Given the description of an element on the screen output the (x, y) to click on. 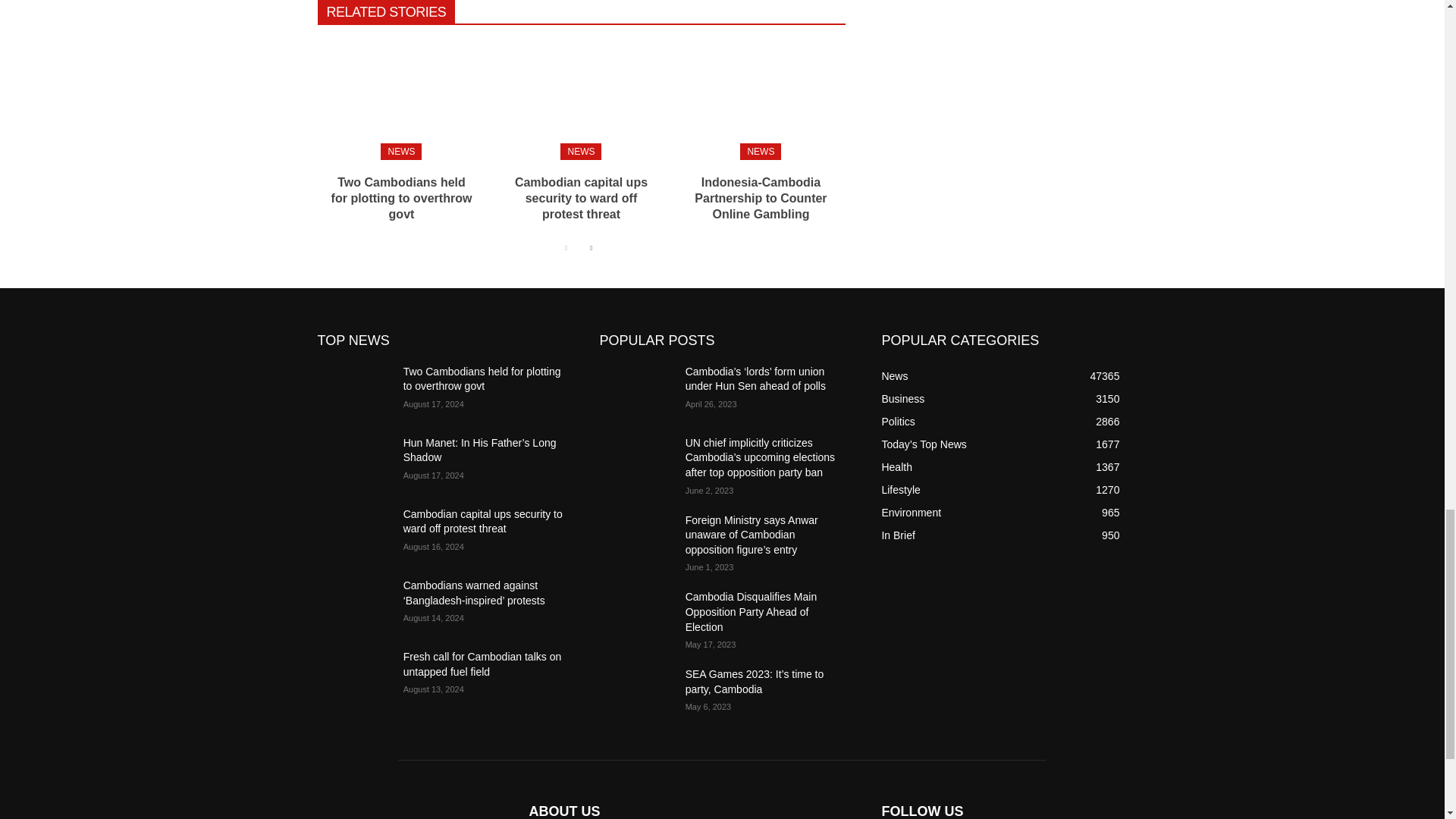
Two Cambodians held for plotting to overthrow govt (401, 198)
Two Cambodians held for plotting to overthrow govt (401, 198)
Cambodian capital ups security to ward off protest threat (580, 98)
Two Cambodians held for plotting to overthrow govt (400, 98)
NEWS (401, 151)
